Given the description of an element on the screen output the (x, y) to click on. 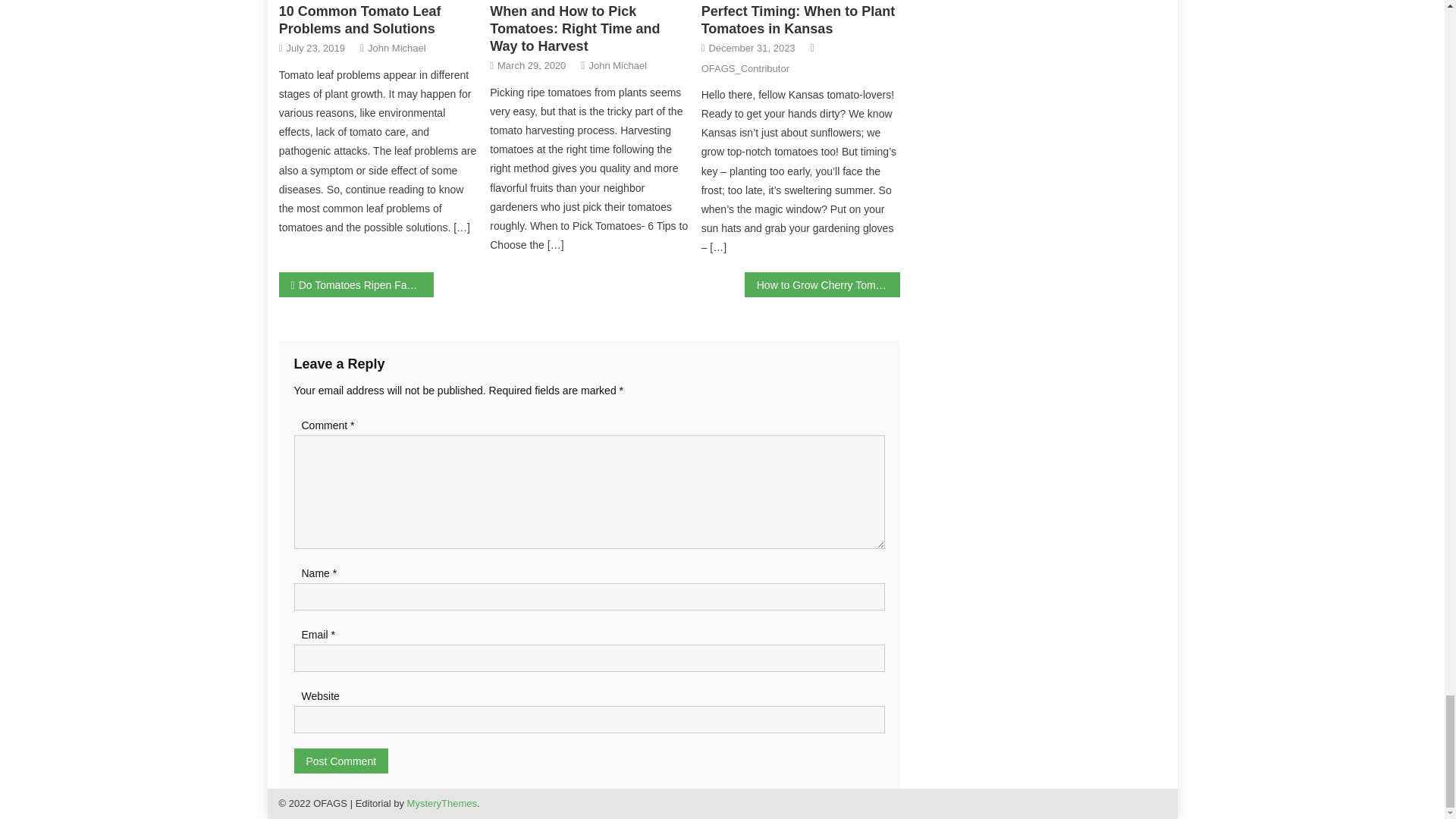
July 23, 2019 (315, 47)
John Michael (397, 47)
Post Comment (341, 760)
10 Common Tomato Leaf Problems and Solutions (360, 20)
